Given the description of an element on the screen output the (x, y) to click on. 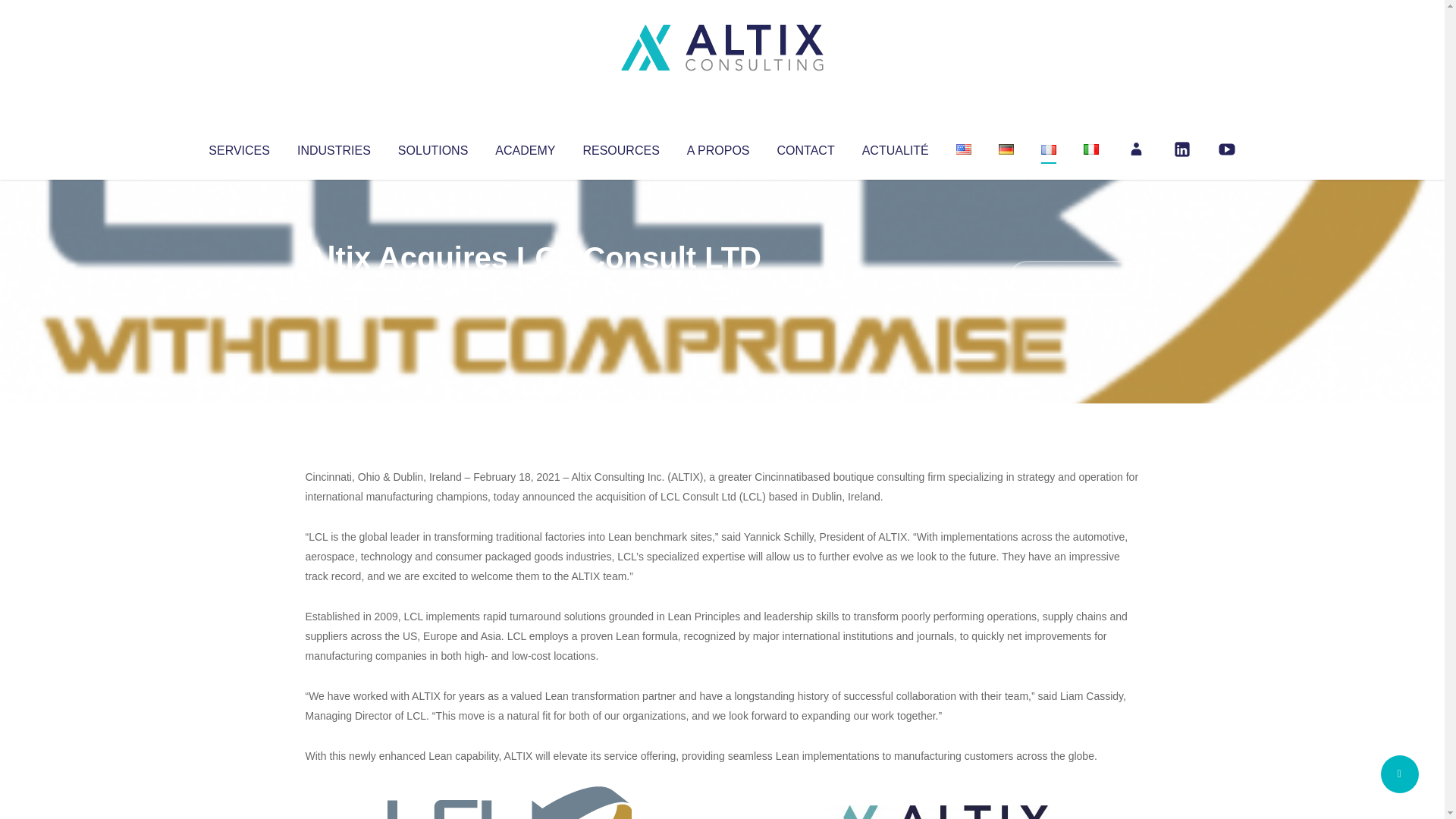
Articles par Altix (333, 287)
SERVICES (238, 146)
RESOURCES (620, 146)
Uncategorized (530, 287)
No Comments (1073, 278)
ACADEMY (524, 146)
A PROPOS (718, 146)
SOLUTIONS (432, 146)
Altix (333, 287)
INDUSTRIES (334, 146)
